Given the description of an element on the screen output the (x, y) to click on. 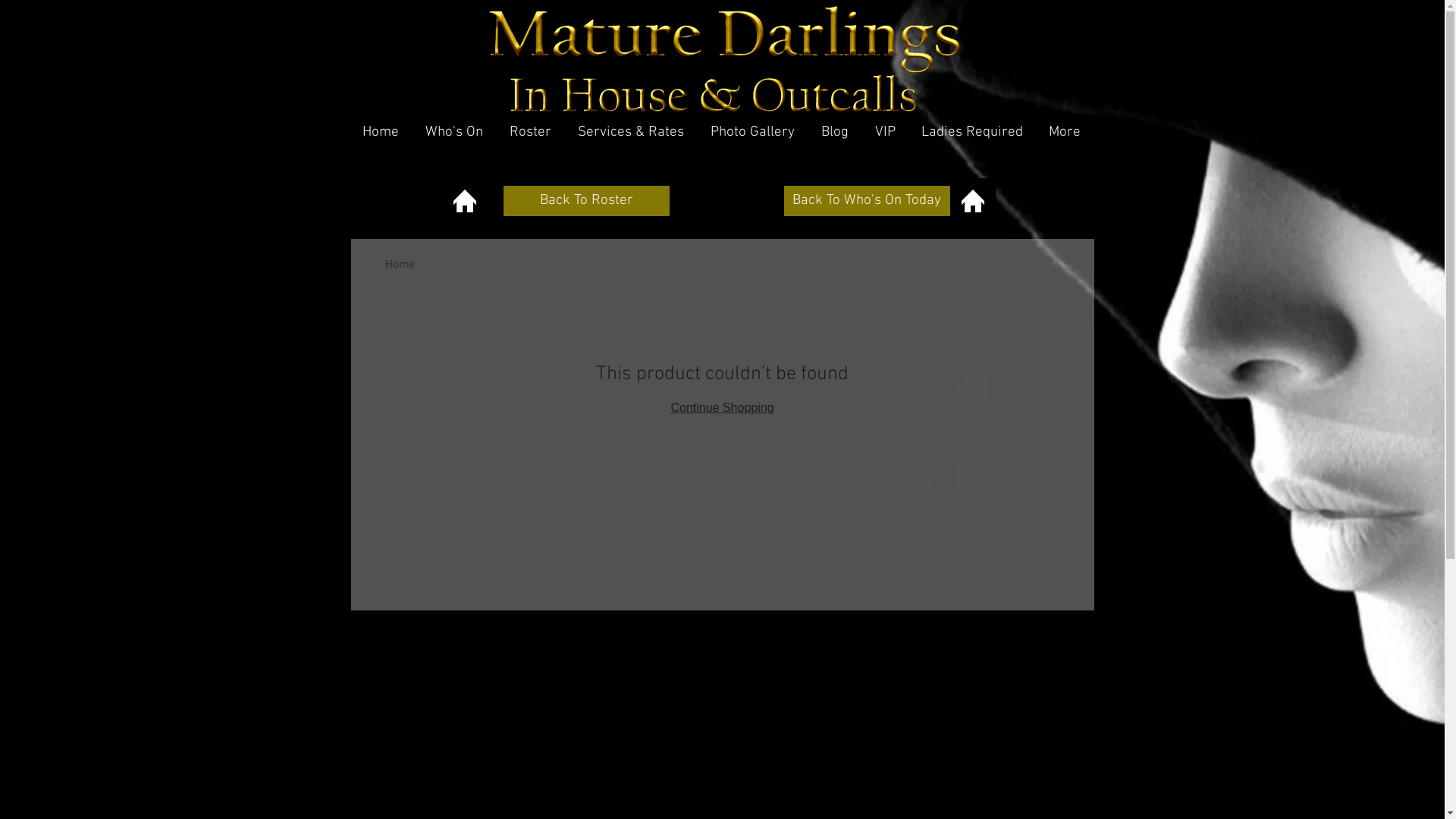
Who's On Element type: text (454, 132)
Blog Element type: text (835, 132)
Continue Shopping Element type: text (721, 407)
Back To "Who's On" Element type: hover (463, 200)
Back To Roster Element type: text (586, 200)
Back To "Who's On" Element type: hover (971, 200)
VIP Element type: text (885, 132)
Home Element type: text (399, 264)
Back To Who's On Today Element type: text (867, 200)
Ladies Required Element type: text (971, 132)
Roster Element type: text (531, 132)
Photo Gallery Element type: text (752, 132)
Home Element type: text (381, 132)
